Given the description of an element on the screen output the (x, y) to click on. 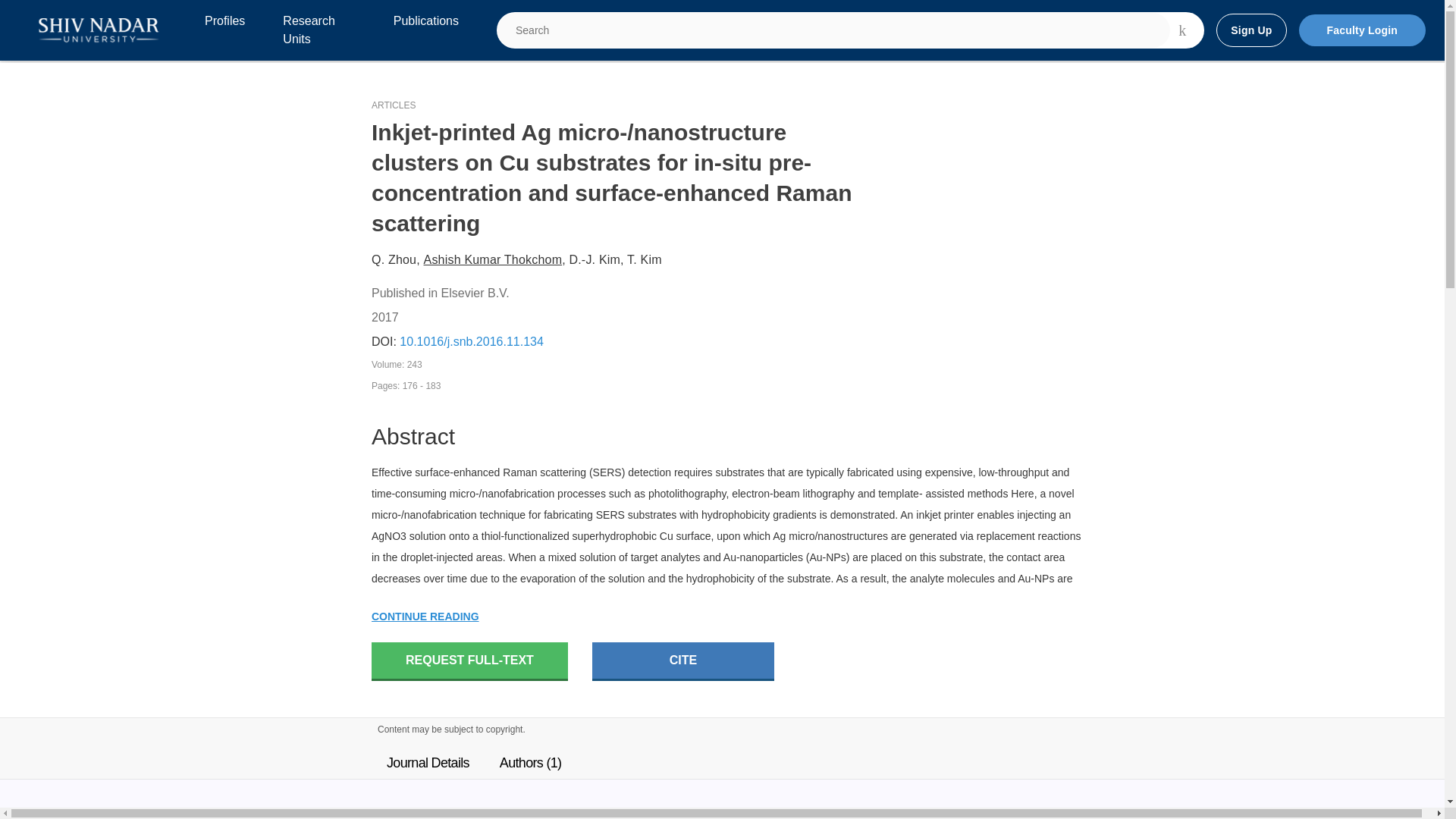
Research Units (318, 30)
Profiles (224, 30)
REQUEST FULL-TEXT (469, 661)
CITE (683, 661)
Ashish Kumar Thokchom (492, 259)
Institution logo (98, 30)
Publications (425, 30)
Journal Details (427, 762)
Faculty Login (1361, 29)
Sign Up (1250, 29)
